Given the description of an element on the screen output the (x, y) to click on. 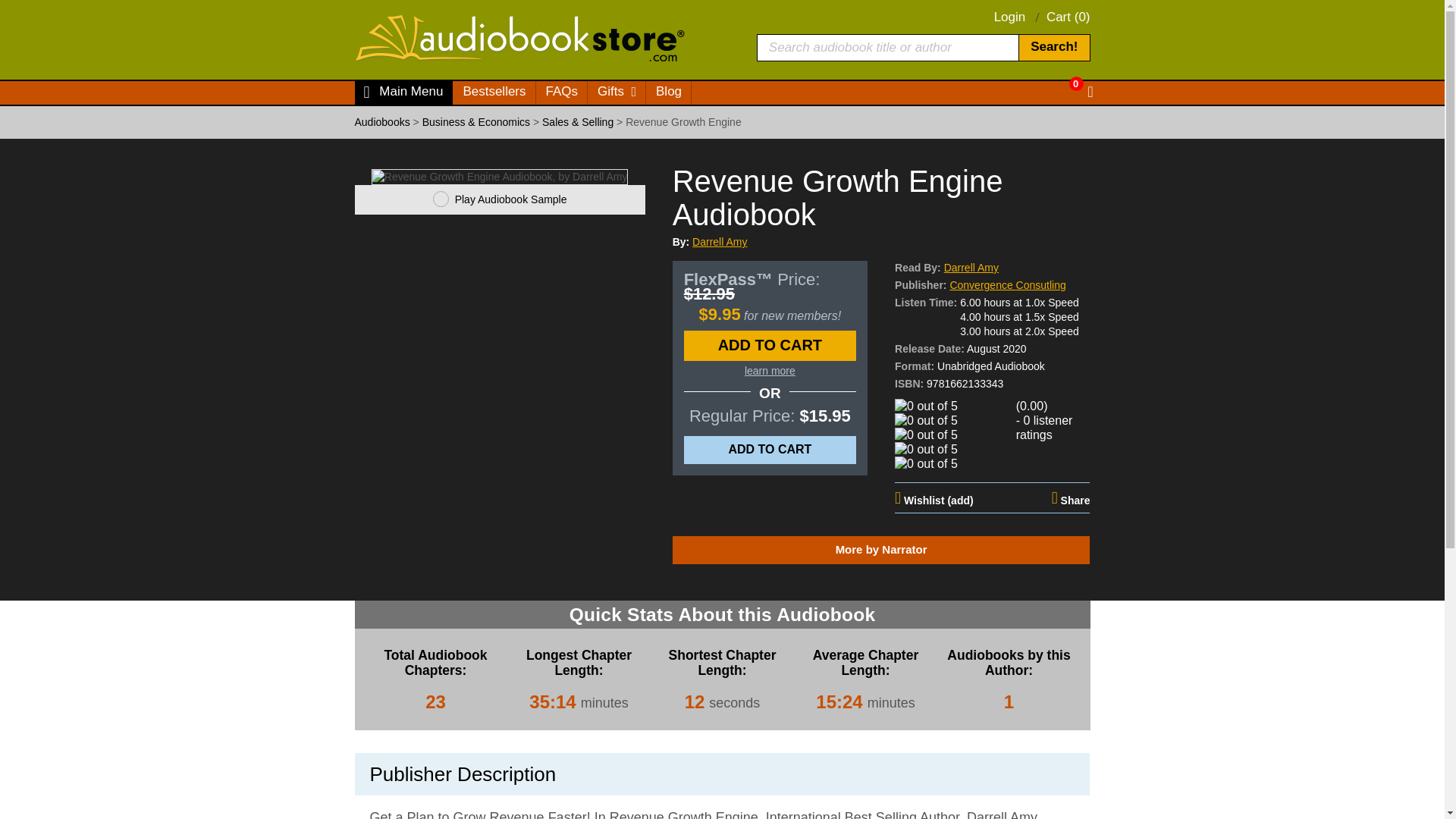
Shopping cart (1066, 83)
Search! (1053, 47)
Shopping cart (1068, 16)
Learn more about FlexPass from AudiobookStore.com! (769, 370)
Shopping cart (1080, 92)
